Given the description of an element on the screen output the (x, y) to click on. 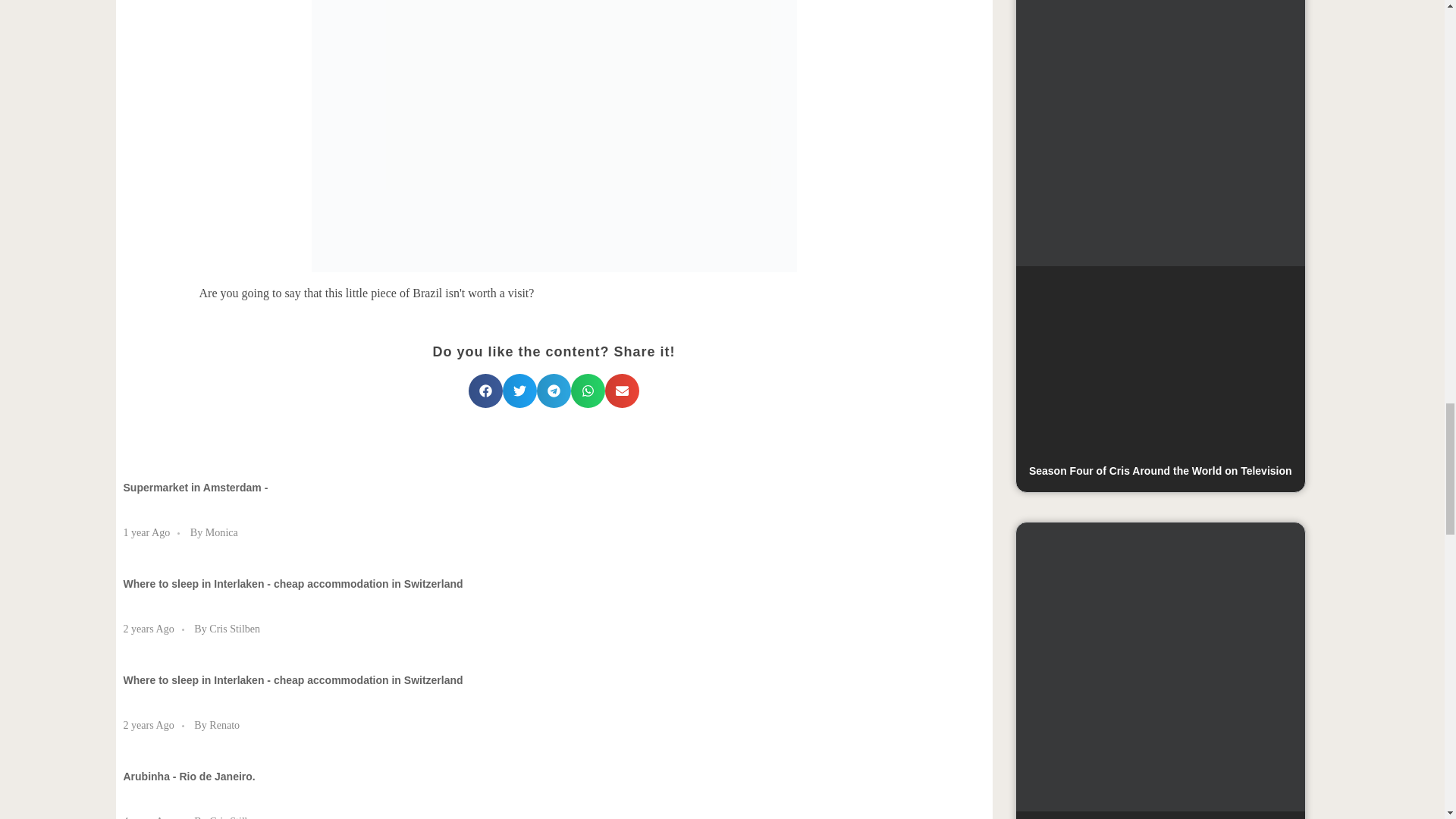
Pomerode 10 - Cris Pelo Mundo (553, 135)
Arubinha - Rio de Janeiro. (188, 776)
Supermarket in Amsterdam - (194, 487)
Supermarket in Amsterdam - (194, 487)
